Given the description of an element on the screen output the (x, y) to click on. 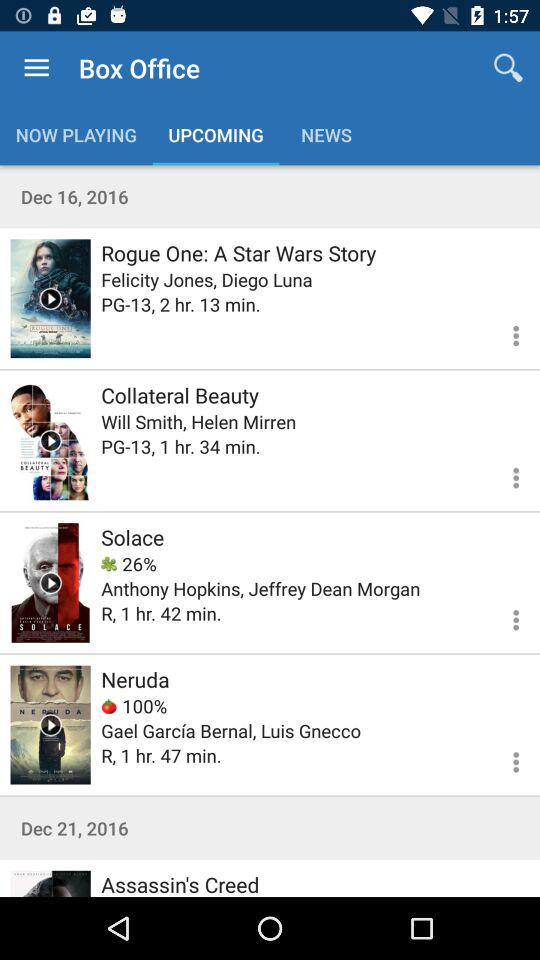
more information on the movie (50, 440)
